Given the description of an element on the screen output the (x, y) to click on. 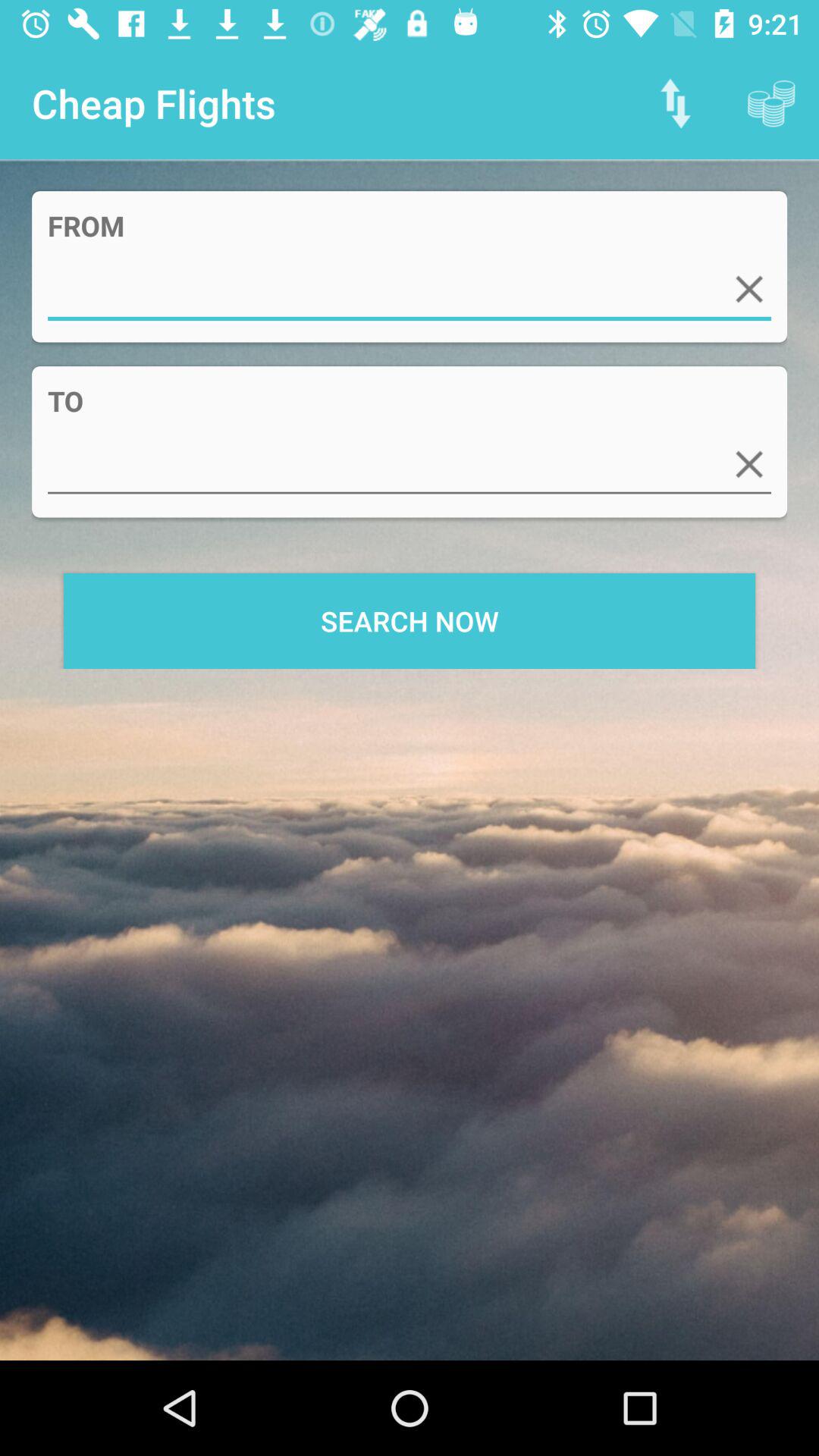
enter starting location (409, 289)
